Given the description of an element on the screen output the (x, y) to click on. 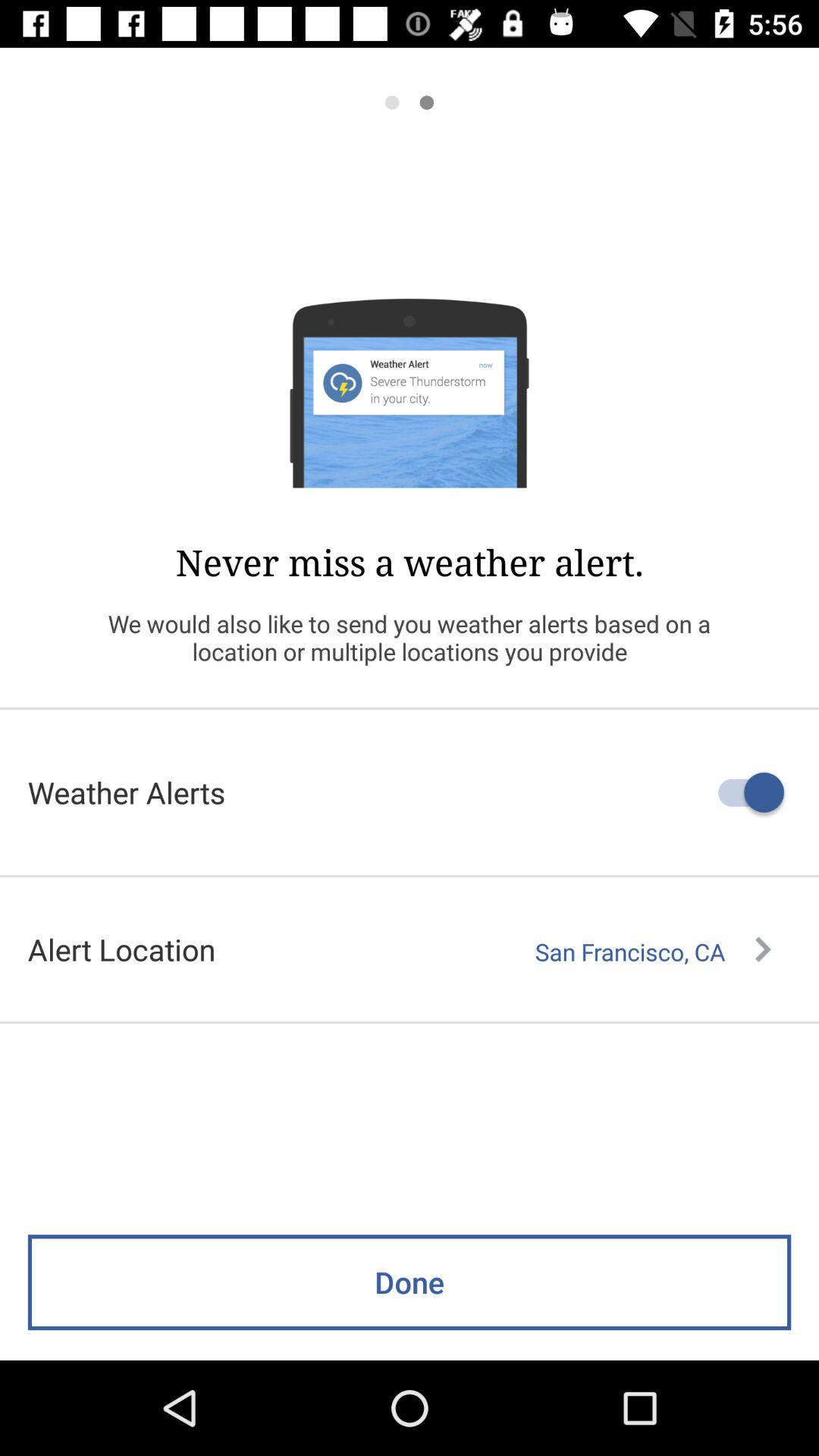
scroll to done icon (409, 1282)
